Given the description of an element on the screen output the (x, y) to click on. 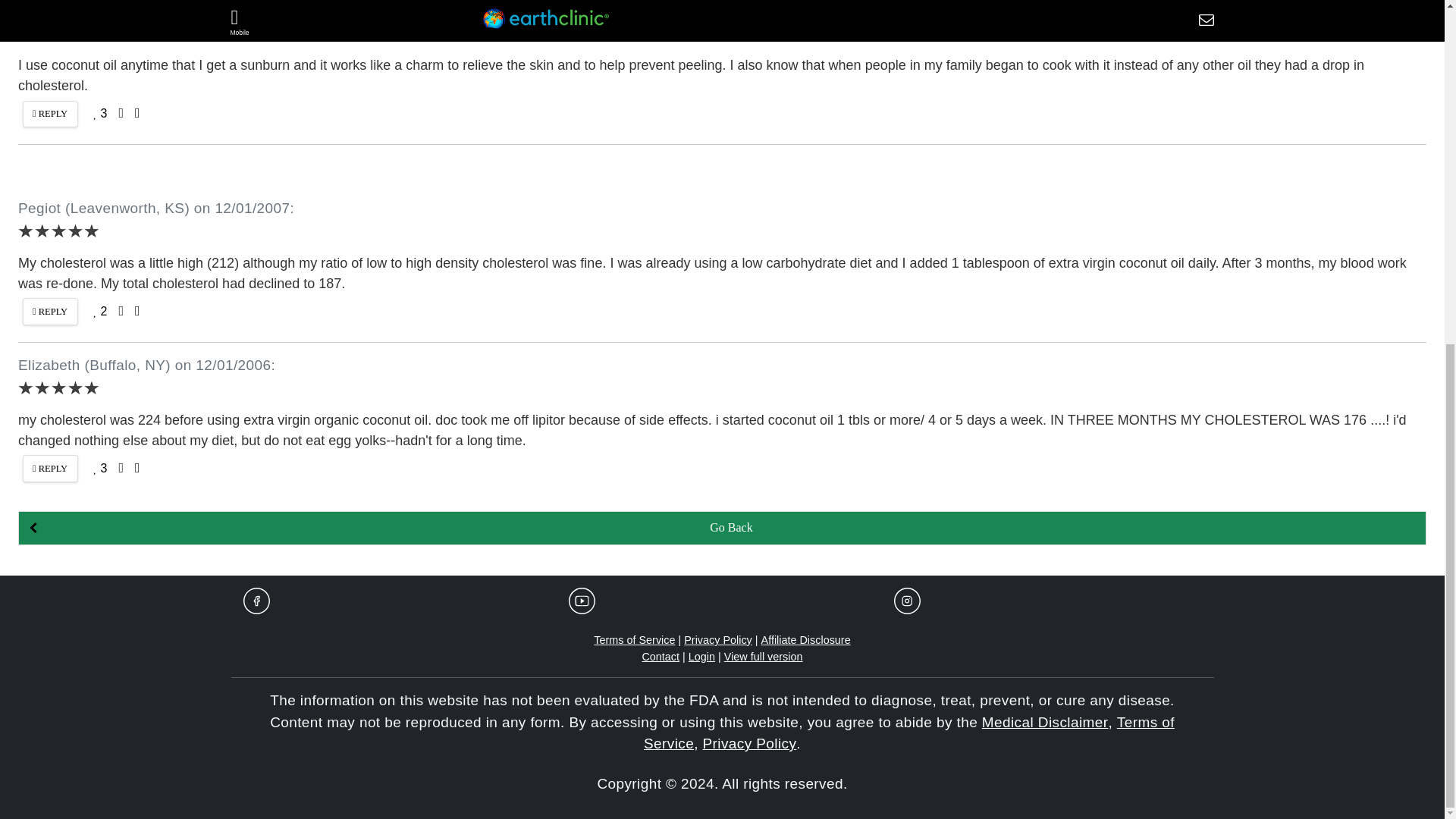
5 out of 5 stars (58, 230)
5 out of 5 stars (58, 32)
You love this post! (99, 112)
You love this post! (99, 310)
